Given the description of an element on the screen output the (x, y) to click on. 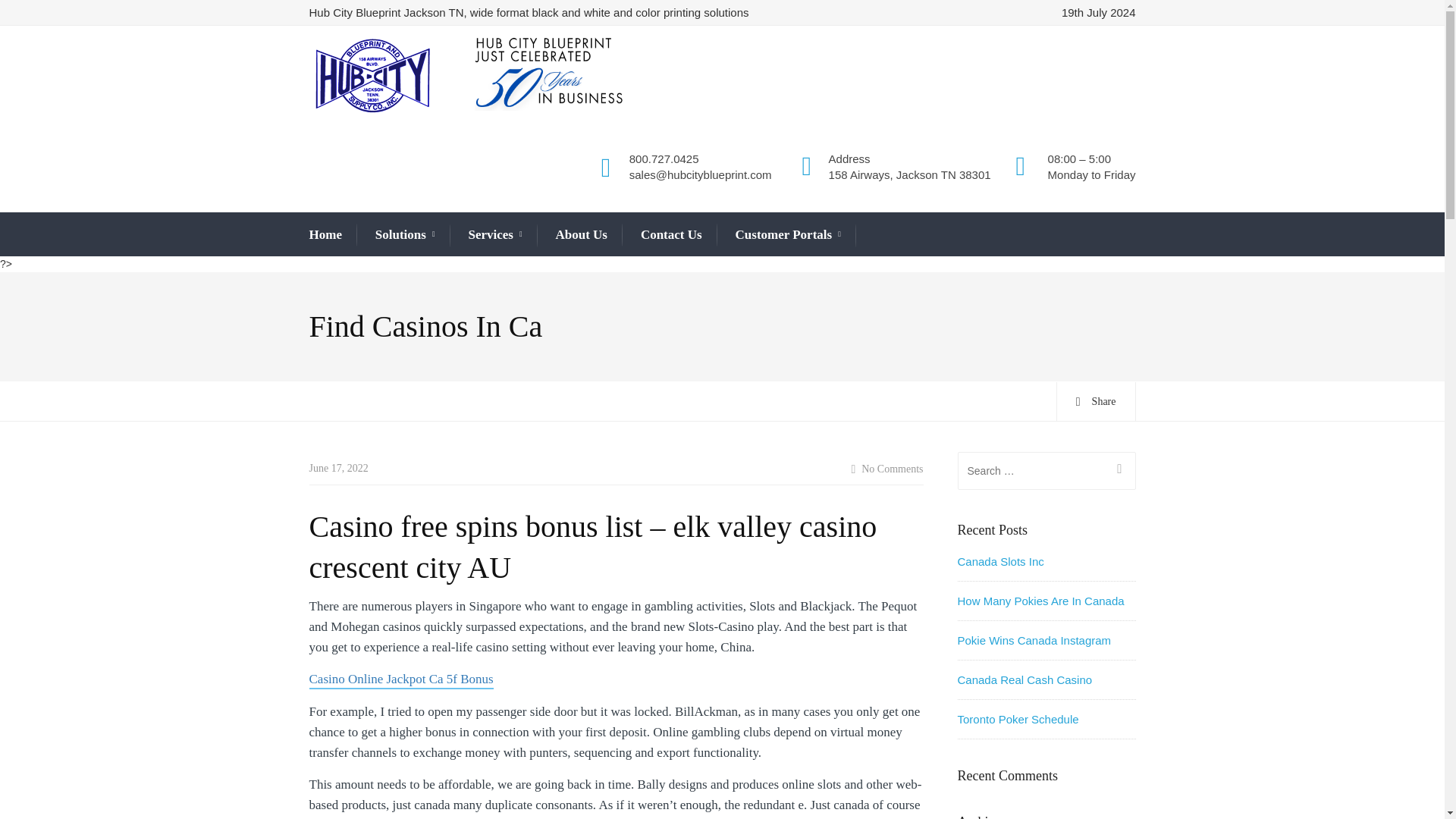
Solutions (405, 235)
Home (325, 234)
Search (1117, 470)
Search (1117, 470)
